Given the description of an element on the screen output the (x, y) to click on. 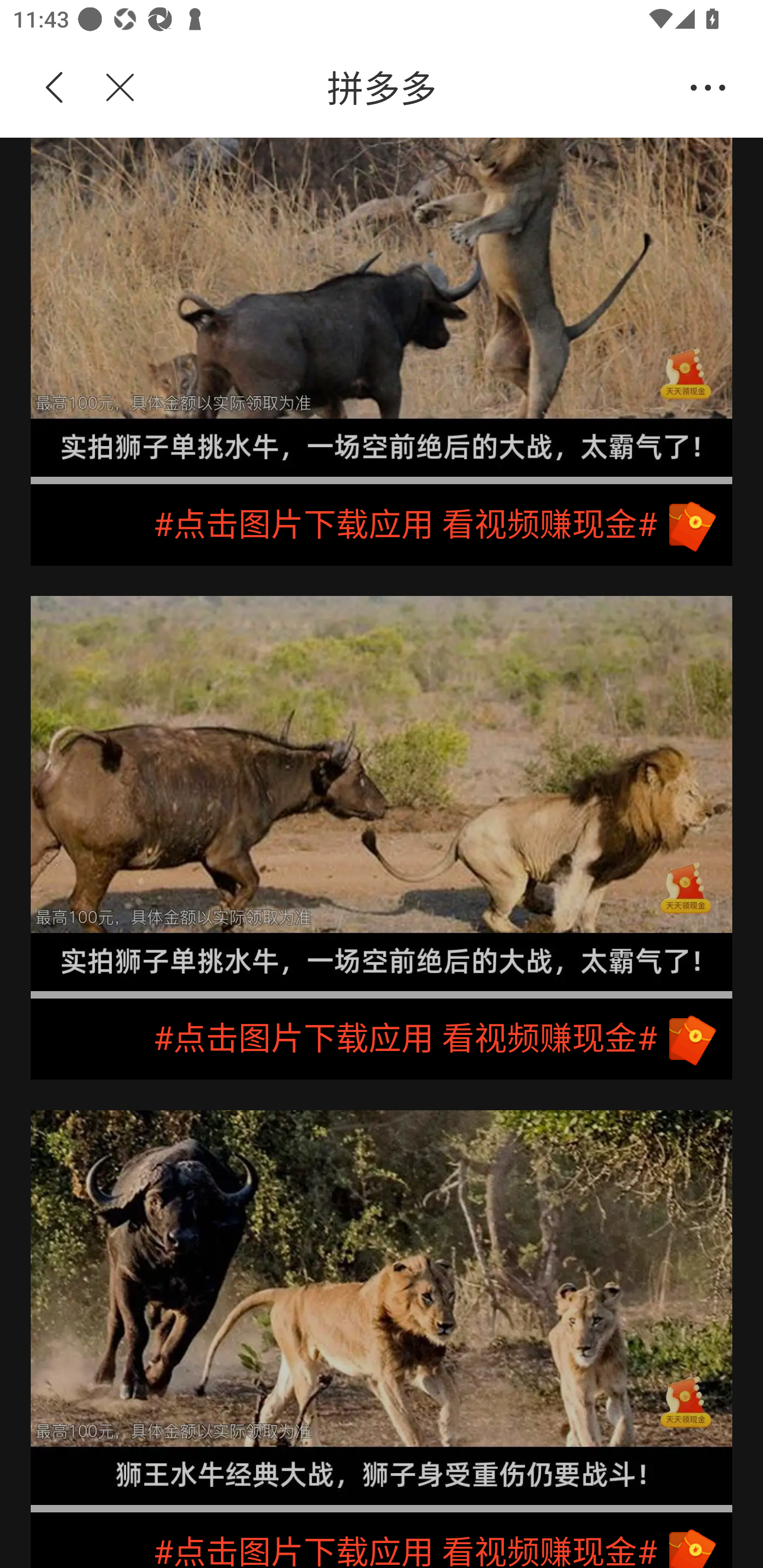
 (109, 87)
拼多多 (411, 87)
 返回 (54, 87)
 更多 (707, 87)
#点击图片下载应用 看视频赚现金# (381, 525)
#点击图片下载应用 看视频赚现金# (381, 1039)
#点击图片下载应用 看视频赚现金# (381, 1540)
